Given the description of an element on the screen output the (x, y) to click on. 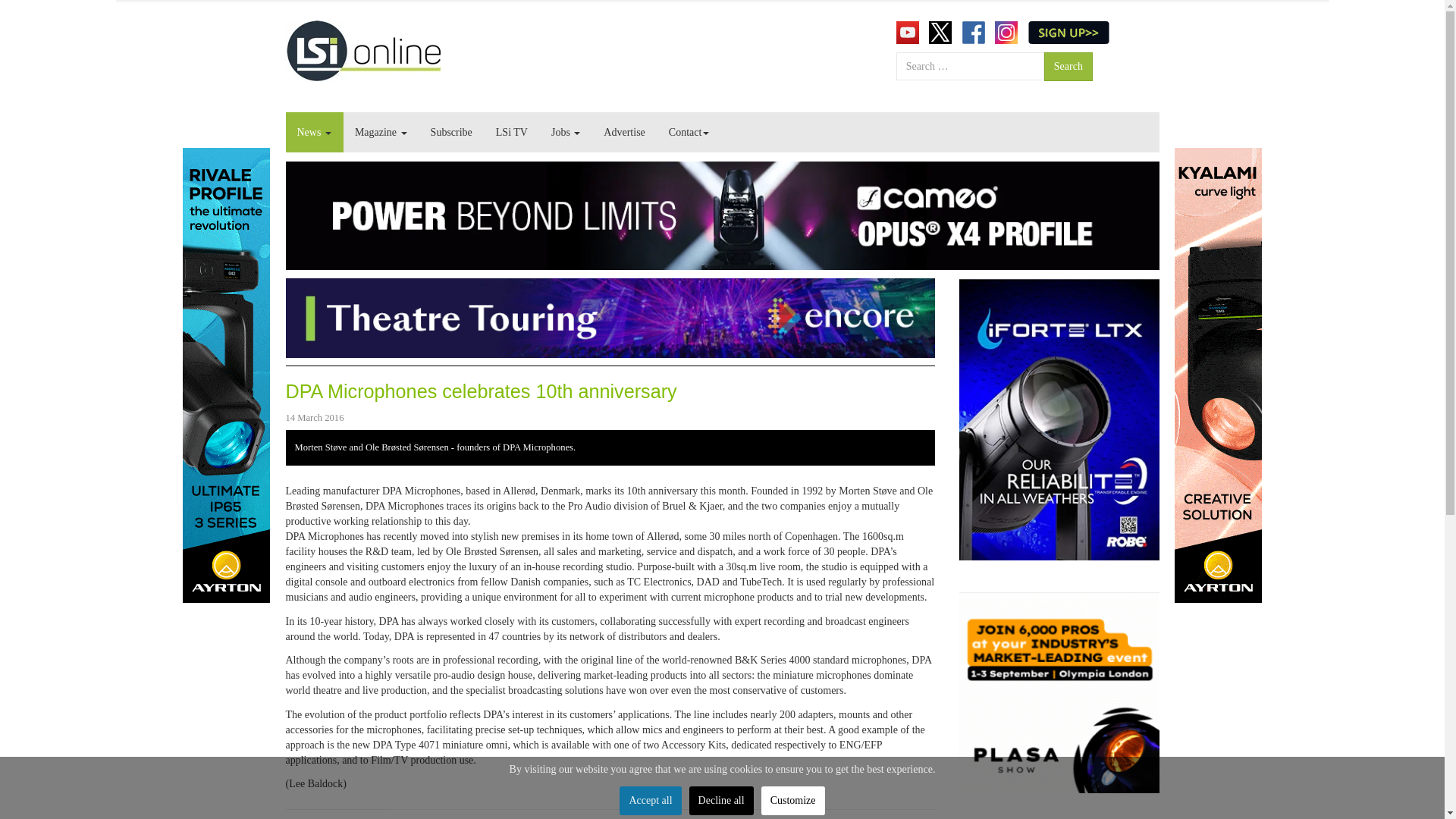
DPA Microphones celebrates 10th anniversary (481, 391)
News (313, 132)
Ayrton - Skyscraper RIGHT - July24 (1216, 374)
Published:  (314, 417)
PLASA London - MPU - July 2024 (1058, 692)
encore - Banner - August 2024 (609, 317)
Search (1068, 66)
Robe - Large MPU (1058, 419)
Ayrton - Skyscraper LEFT - July24 (225, 374)
LSi Online (363, 50)
